Given the description of an element on the screen output the (x, y) to click on. 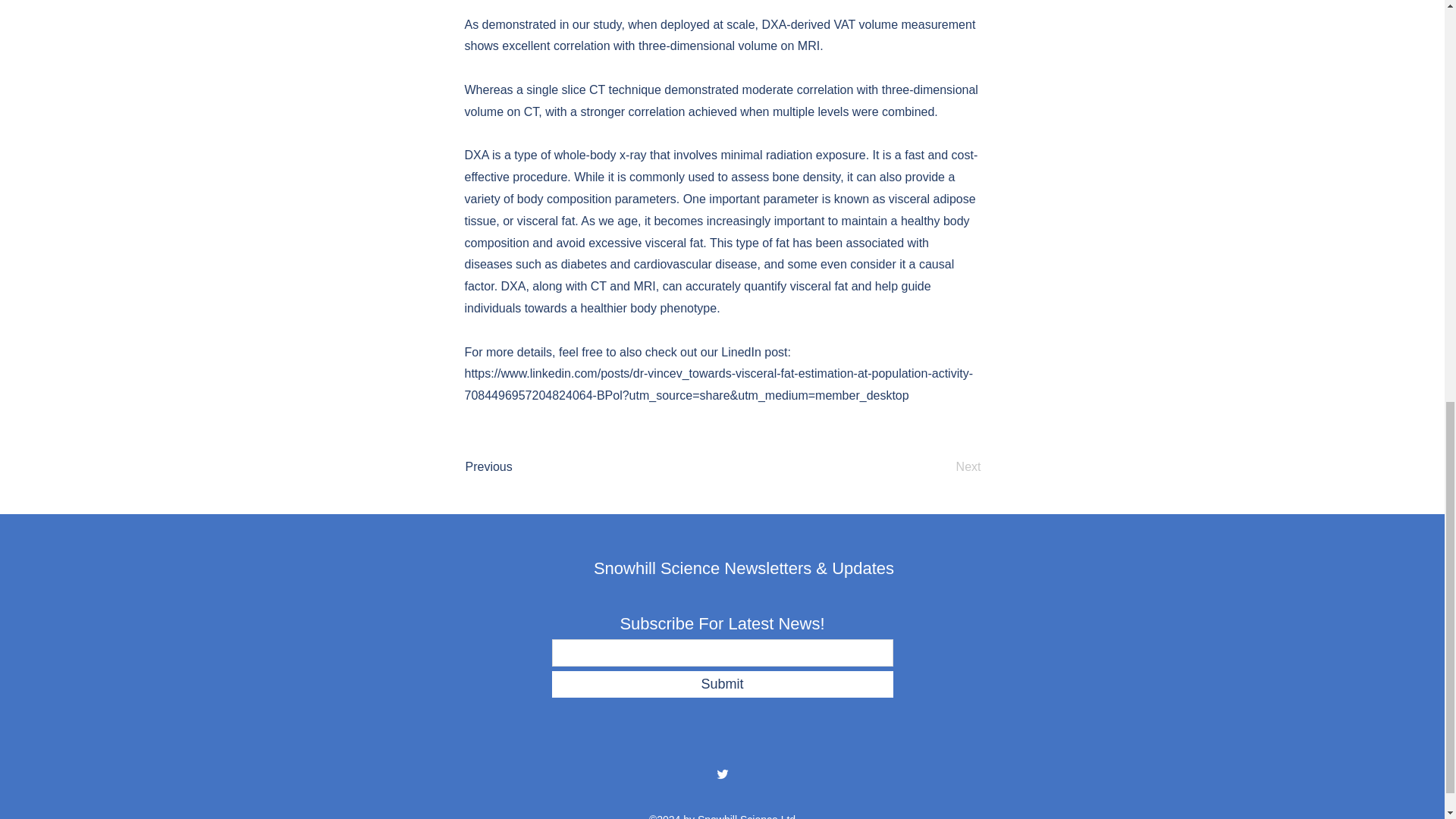
Submit (722, 683)
Previous (515, 467)
Next (943, 467)
